Given the description of an element on the screen output the (x, y) to click on. 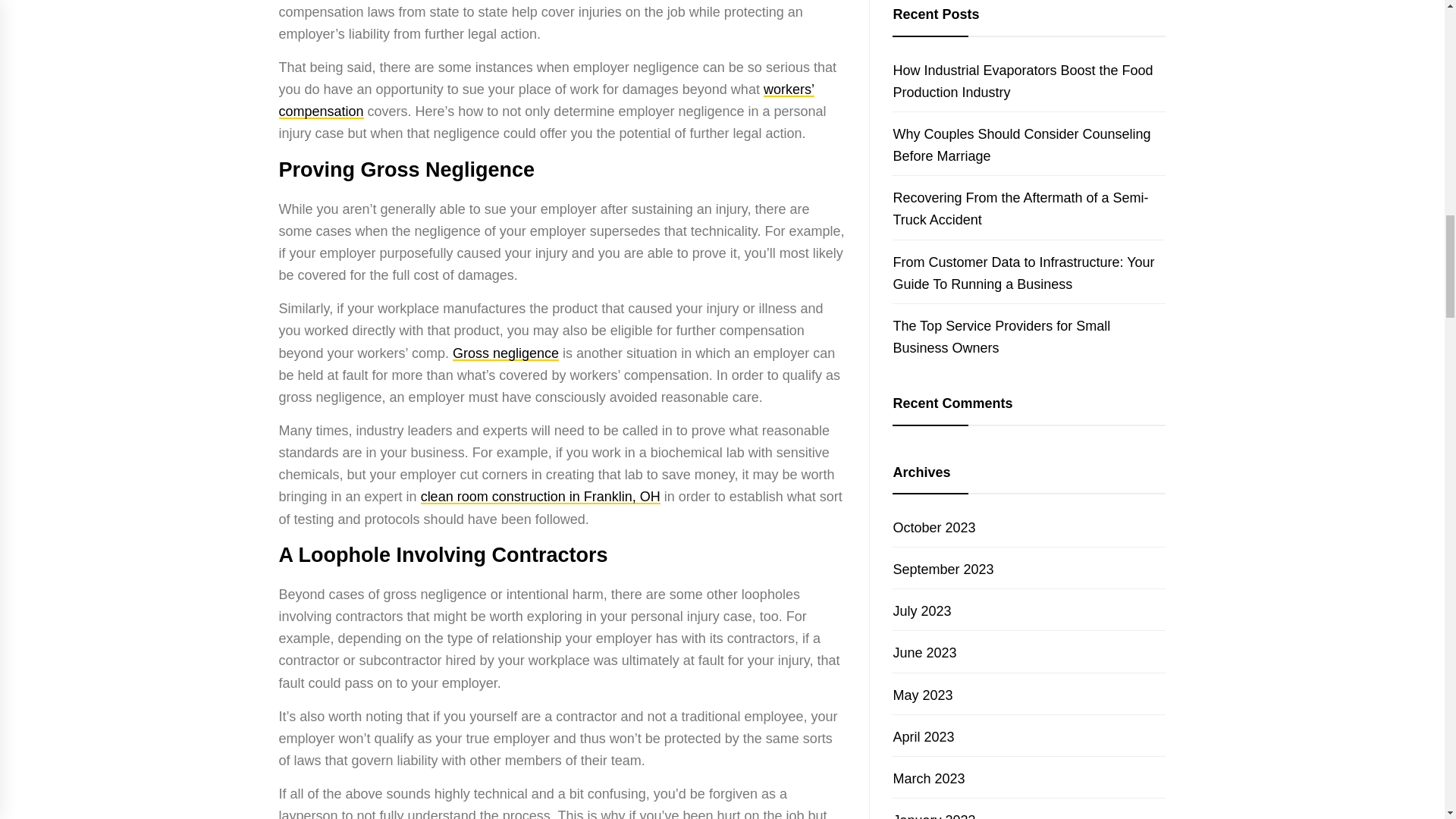
September 2023 (942, 569)
October 2023 (933, 527)
Recovering From the Aftermath of a Semi-Truck Accident (1020, 208)
clean room construction in Franklin, OH (540, 496)
The Top Service Providers for Small Business Owners (1000, 336)
April 2023 (922, 736)
July 2023 (921, 611)
January 2023 (933, 816)
March 2023 (927, 778)
Gross negligence (505, 353)
Why Couples Should Consider Counseling Before Marriage (1021, 144)
May 2023 (922, 694)
June 2023 (924, 652)
